Given the description of an element on the screen output the (x, y) to click on. 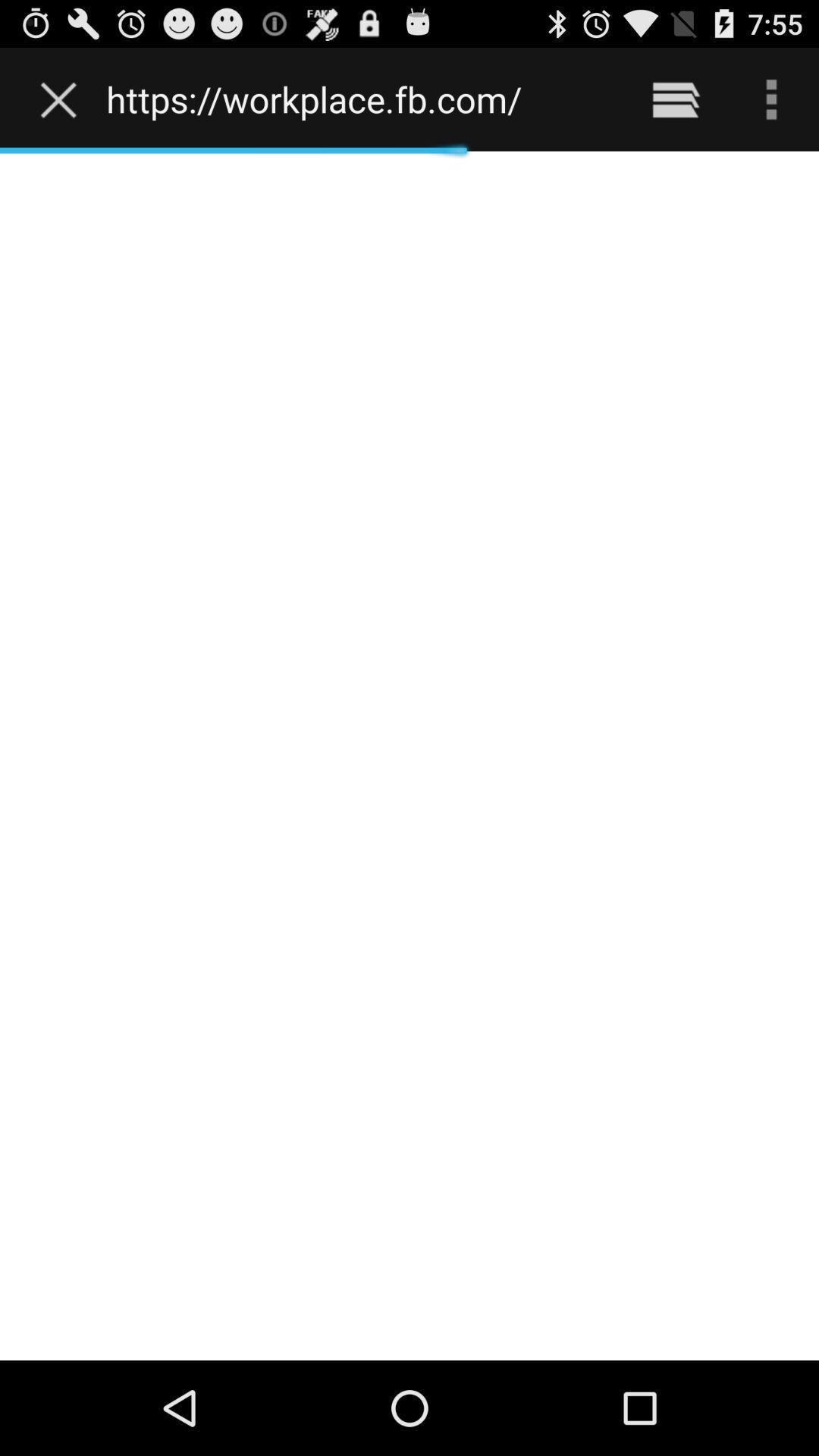
open the icon to the right of the https workplace fb icon (675, 99)
